Given the description of an element on the screen output the (x, y) to click on. 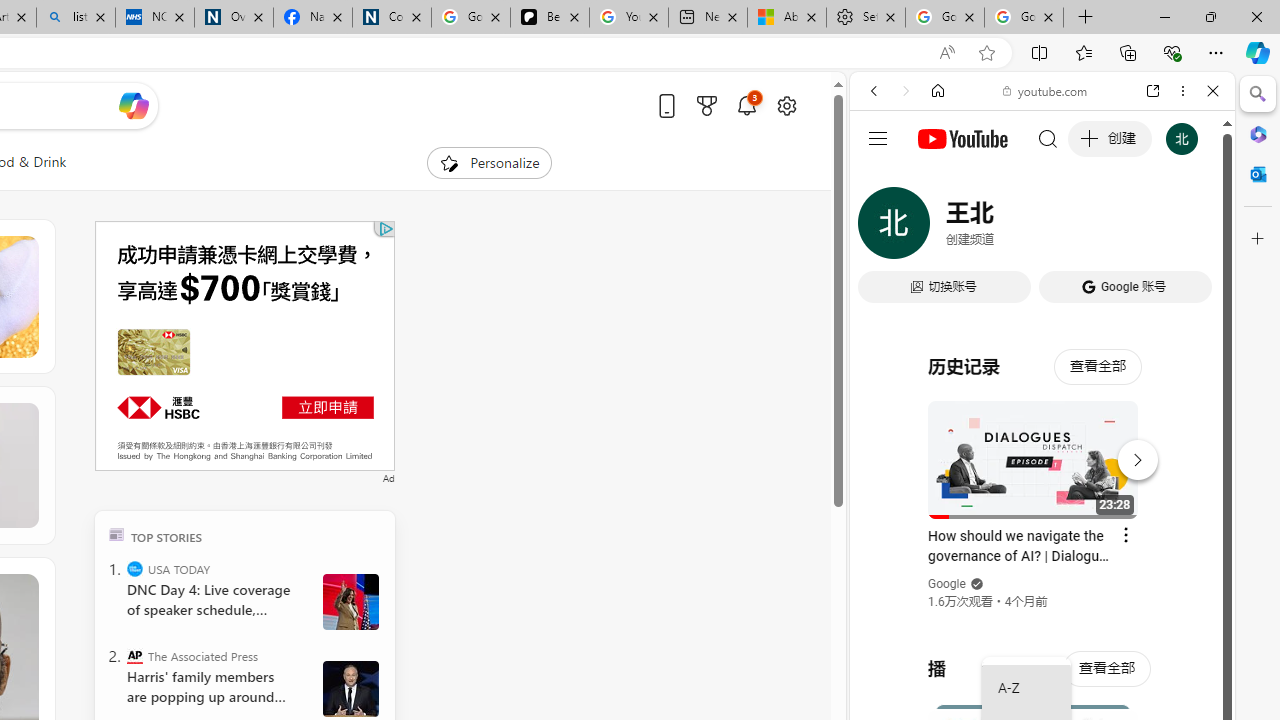
Personalize (488, 162)
USA TODAY (134, 568)
Class: qc-adchoices-link top-right  (385, 228)
Web scope (882, 180)
